Given the description of an element on the screen output the (x, y) to click on. 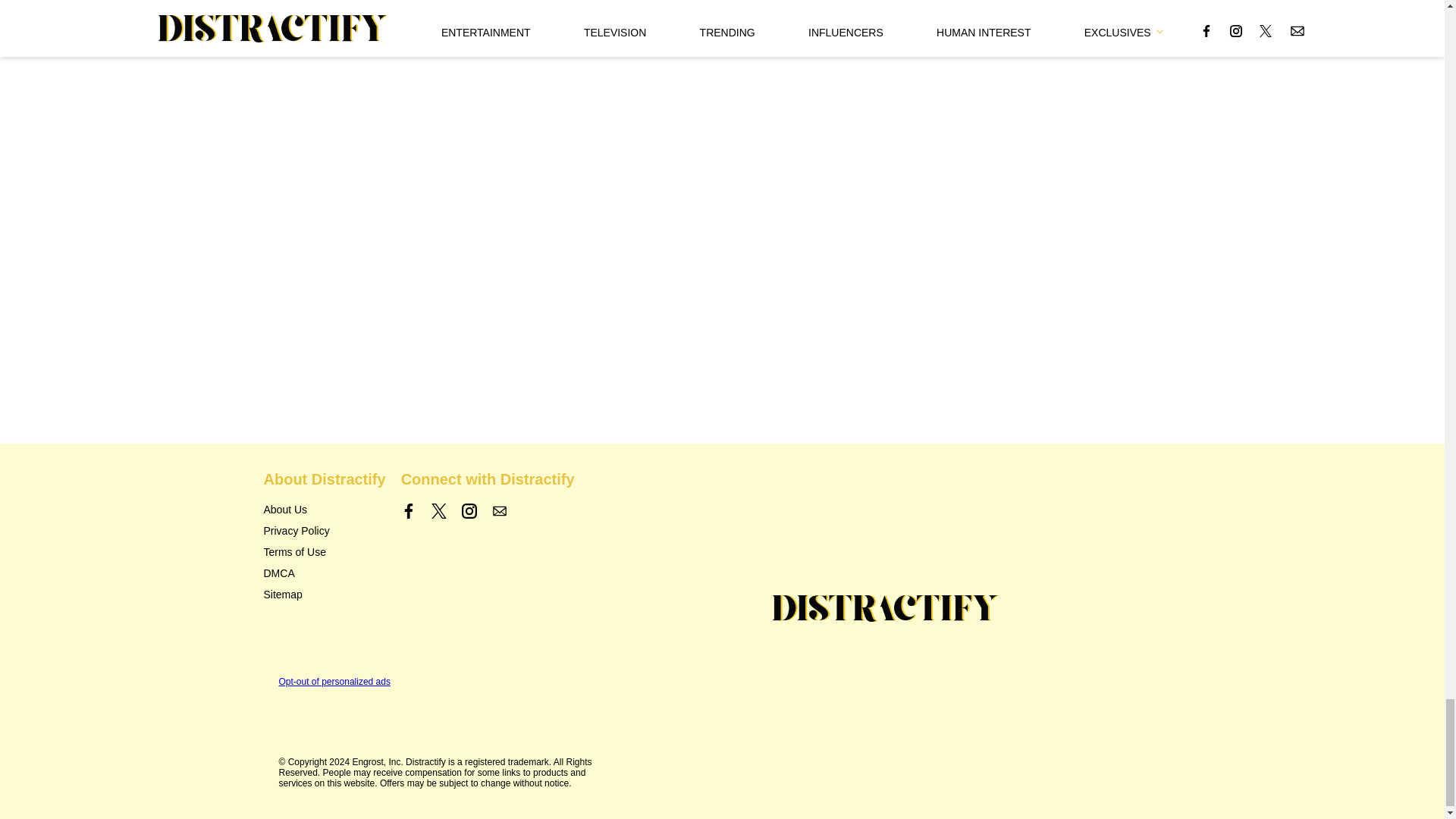
Link to Facebook (408, 510)
Terms of Use (294, 551)
Link to X (438, 510)
Contact us by Email (499, 510)
Link to Instagram (469, 510)
DMCA (279, 573)
Sitemap (282, 594)
About Us (285, 509)
Privacy Policy (296, 530)
